Given the description of an element on the screen output the (x, y) to click on. 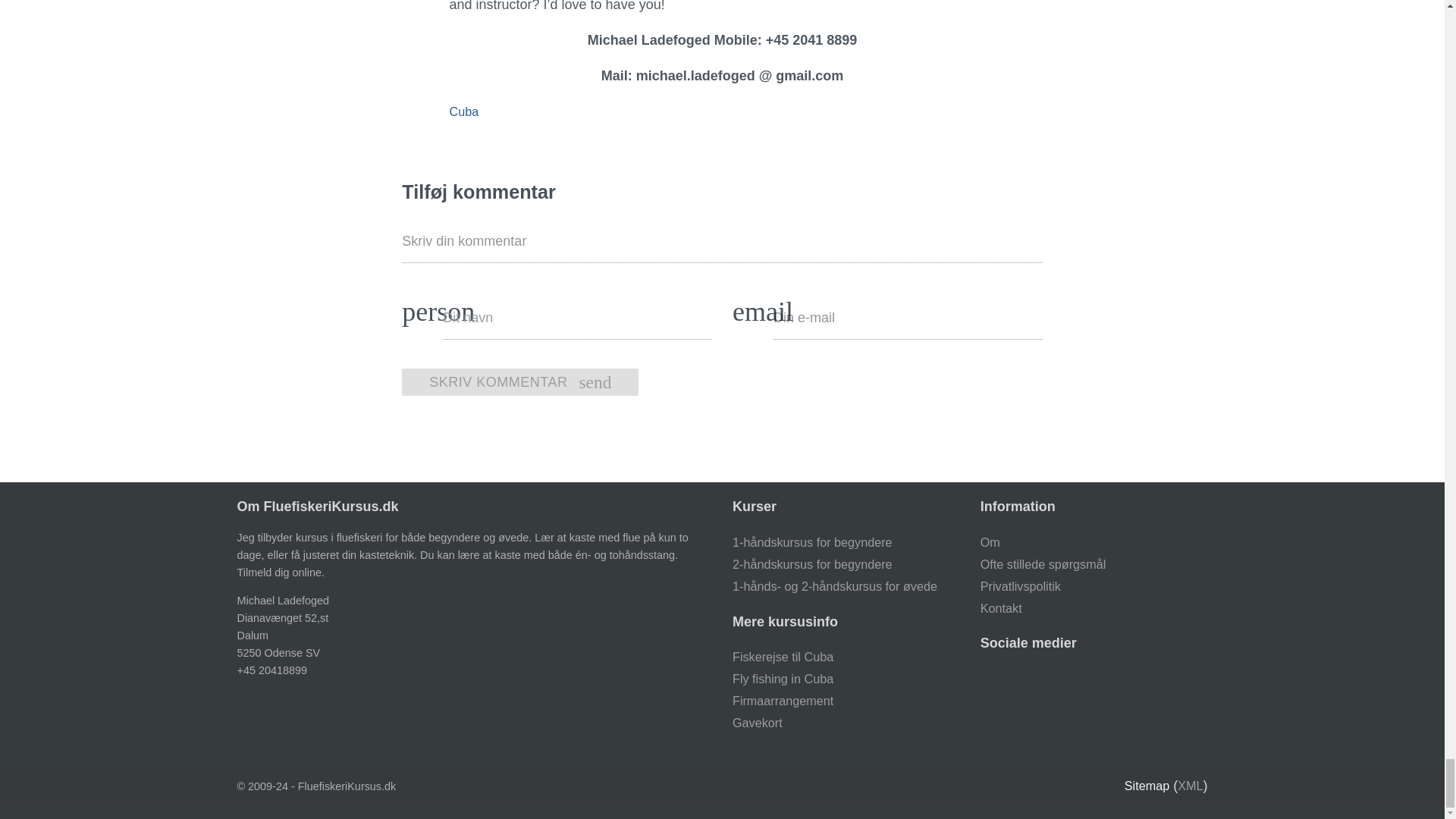
Gavekort (757, 722)
Firmaarrangement (782, 700)
Kontakt (1000, 608)
Fly fishing in Cuba (782, 678)
Fiskerejse til Cuba (782, 656)
Om (989, 541)
Cuba (520, 381)
Privatlivspolitik (463, 110)
